Given the description of an element on the screen output the (x, y) to click on. 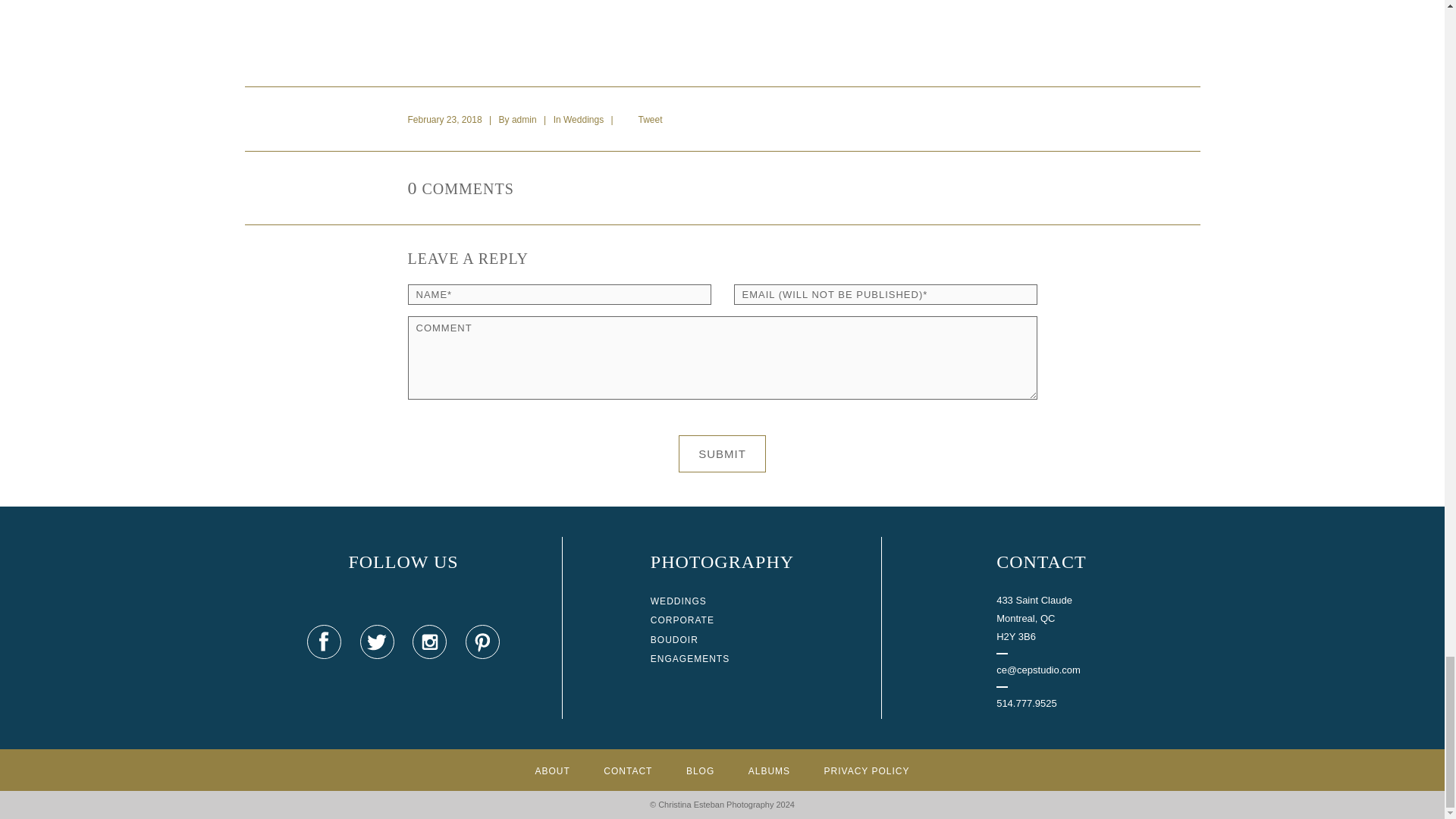
Submit (721, 453)
